Given the description of an element on the screen output the (x, y) to click on. 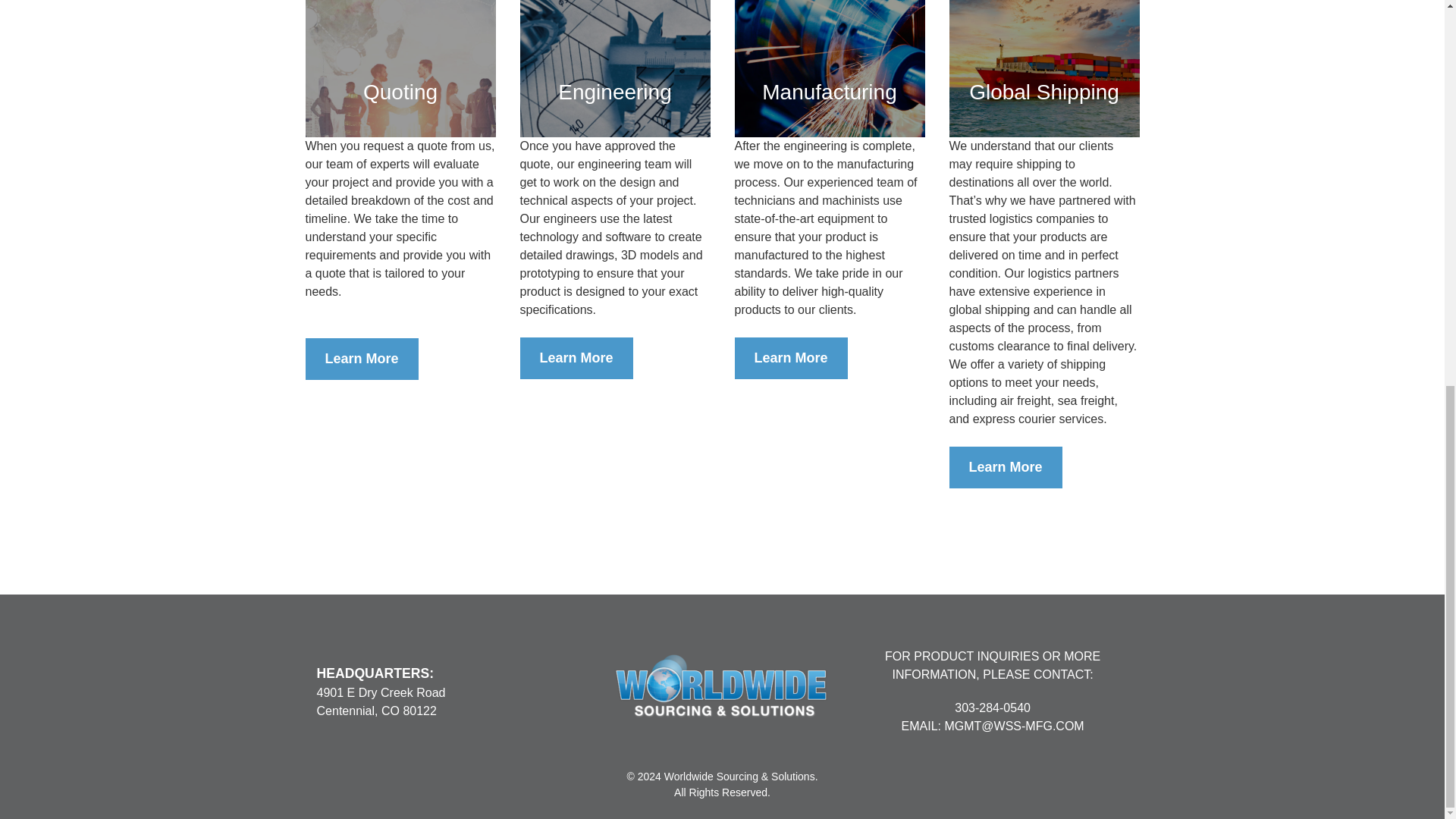
Learn More (1005, 467)
Learn More (576, 358)
Learn More (360, 359)
Learn More (790, 358)
